Given the description of an element on the screen output the (x, y) to click on. 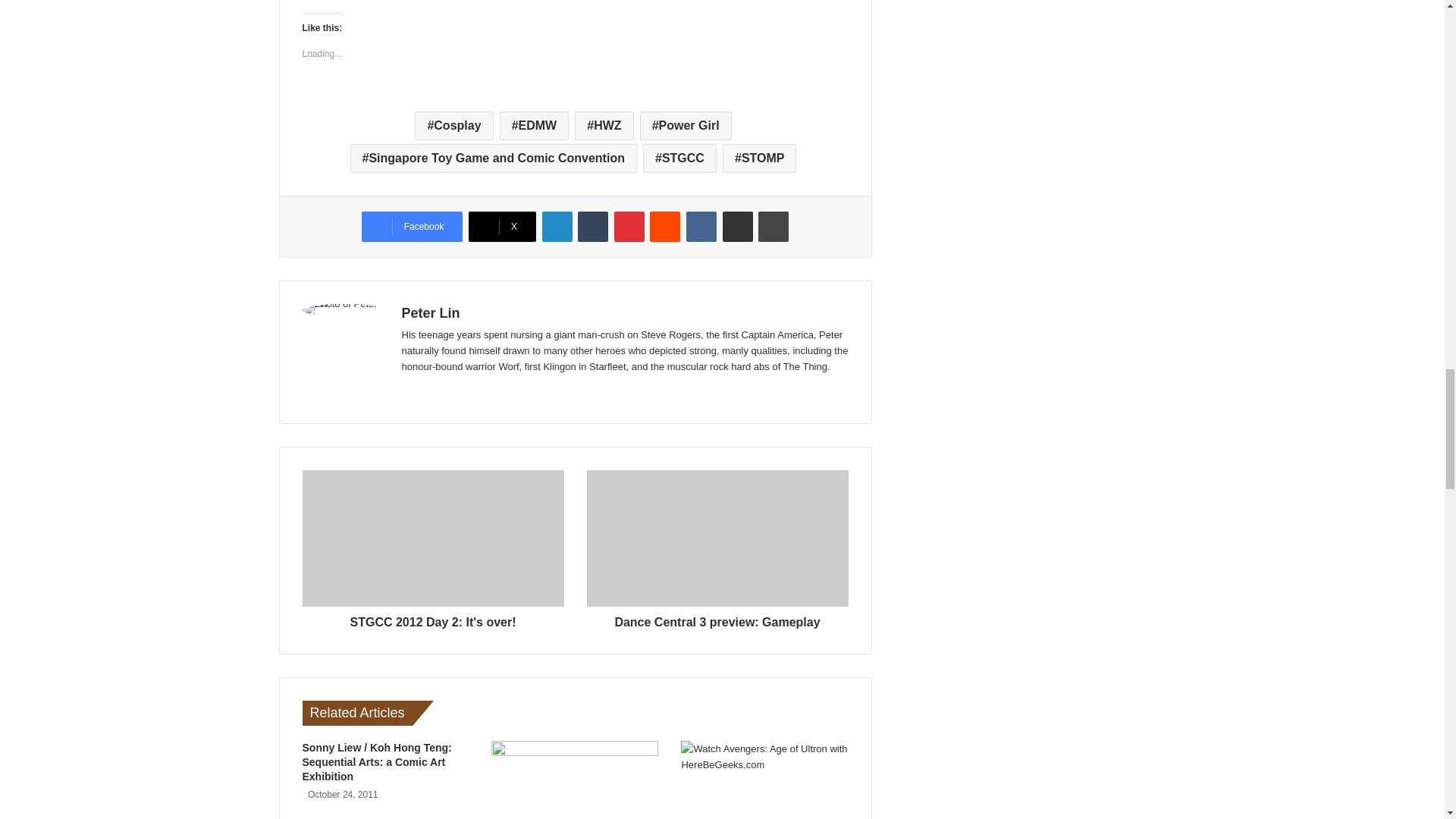
Cosplay (453, 125)
EDMW (534, 125)
HWZ (604, 125)
